Given the description of an element on the screen output the (x, y) to click on. 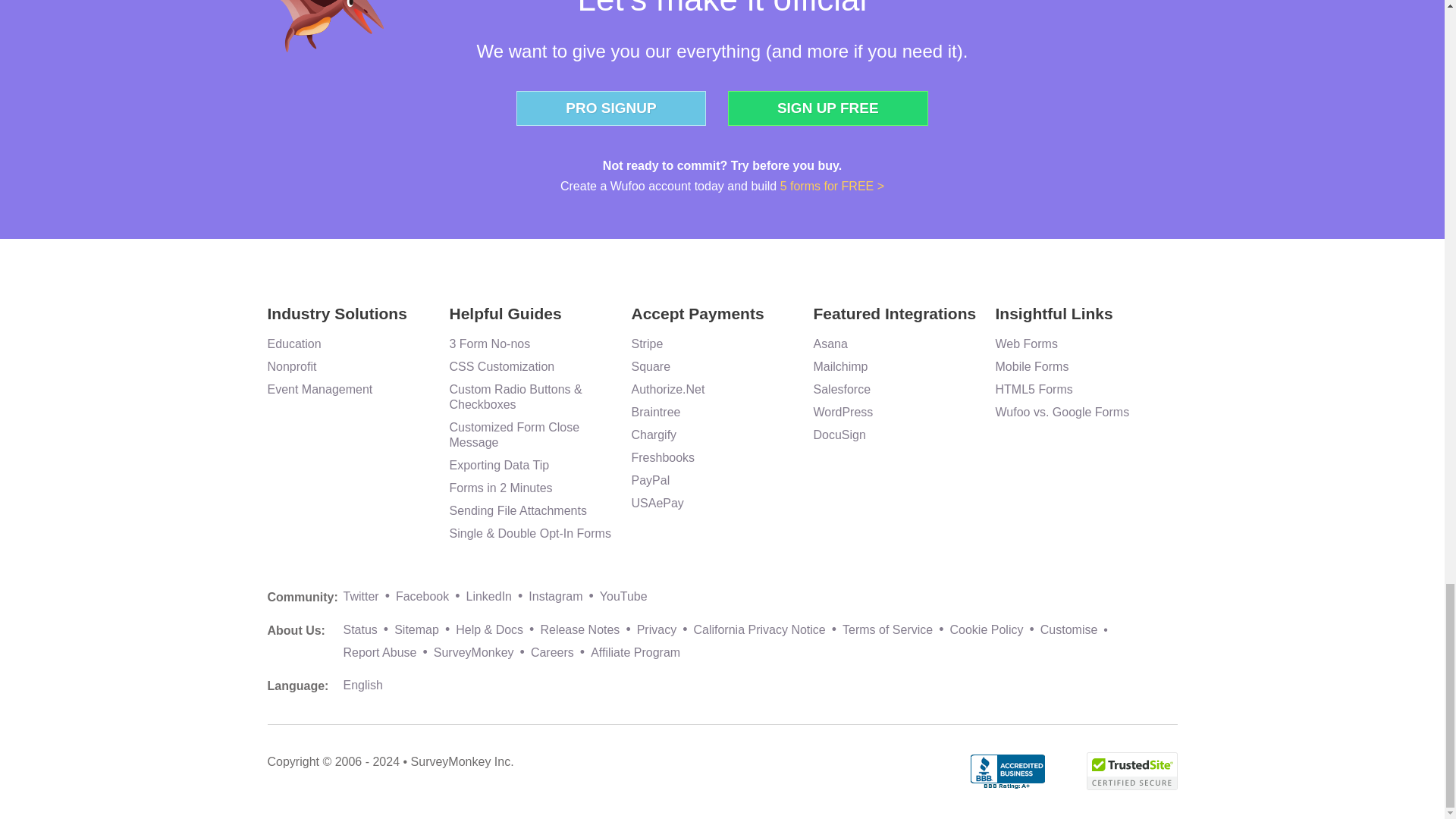
View TrustedSite Certification (1131, 770)
